Given the description of an element on the screen output the (x, y) to click on. 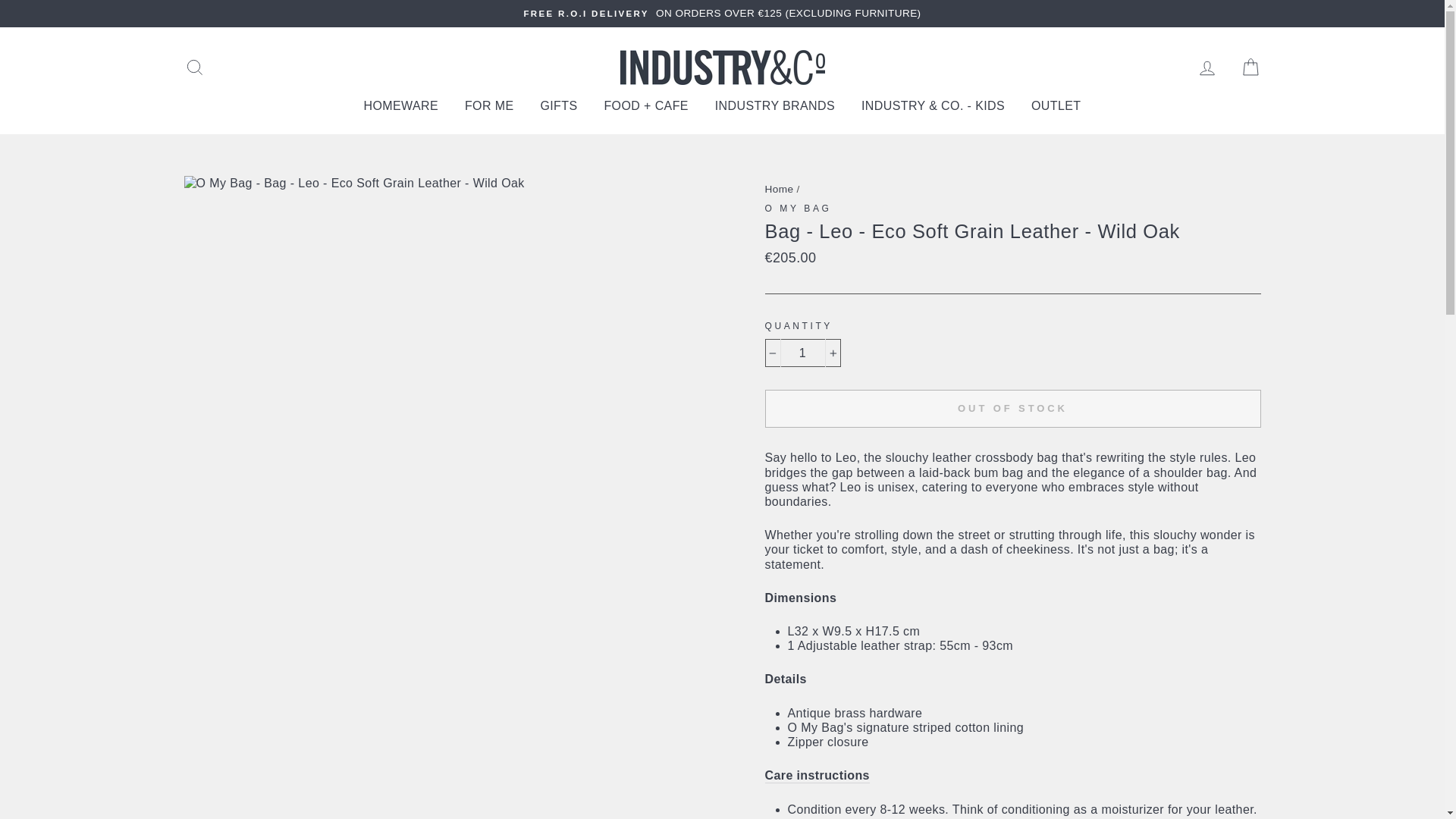
1 (802, 352)
Back to the frontpage (778, 188)
